Given the description of an element on the screen output the (x, y) to click on. 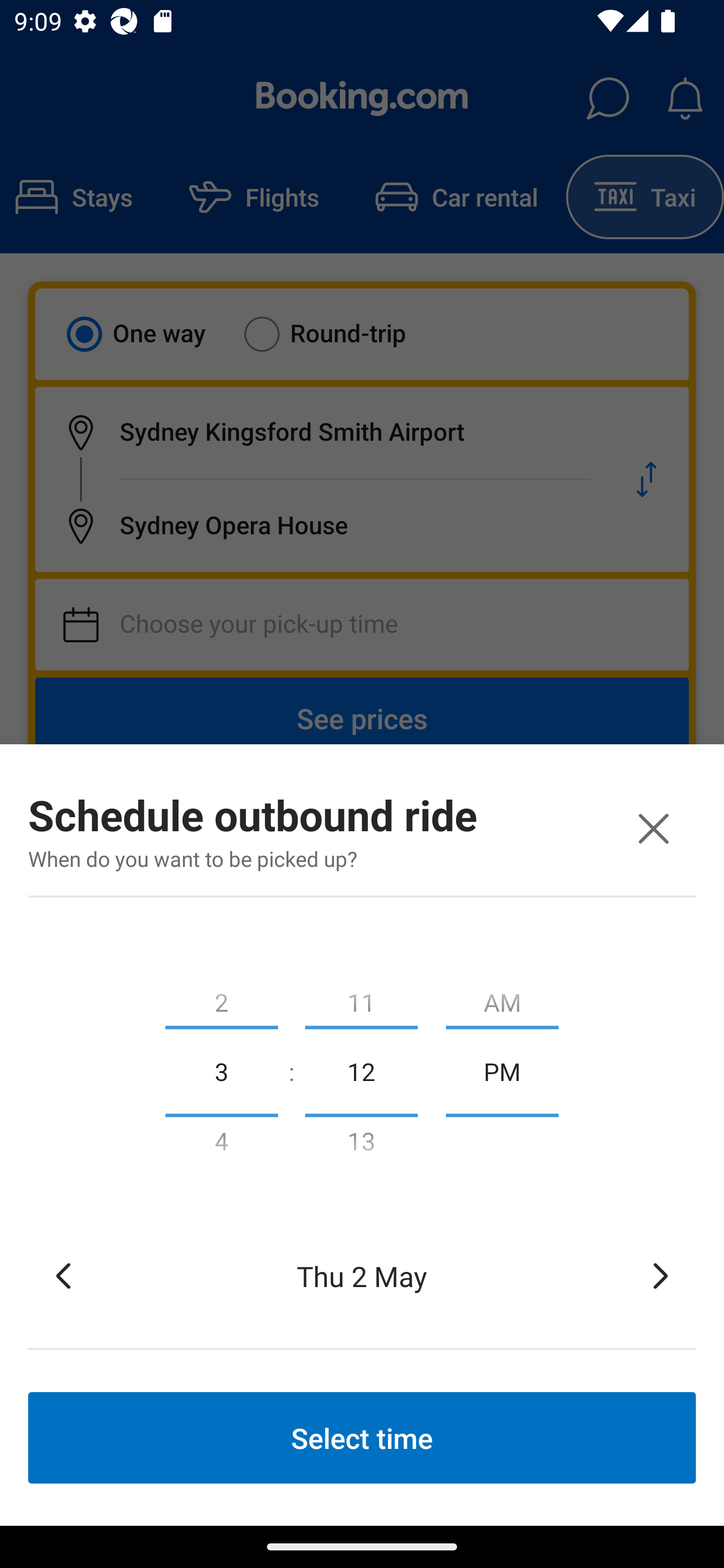
Close window (653, 828)
2 (221, 997)
11 (361, 997)
AM (501, 997)
3 (221, 1070)
12 (361, 1070)
PM (501, 1070)
4 (221, 1144)
13 (361, 1144)
Tap to move back to the previous date (63, 1275)
Tap to move forward to the next date (660, 1275)
Thu 2 May Selected date, Thursday, 2 May (361, 1275)
Select time (361, 1437)
